Given the description of an element on the screen output the (x, y) to click on. 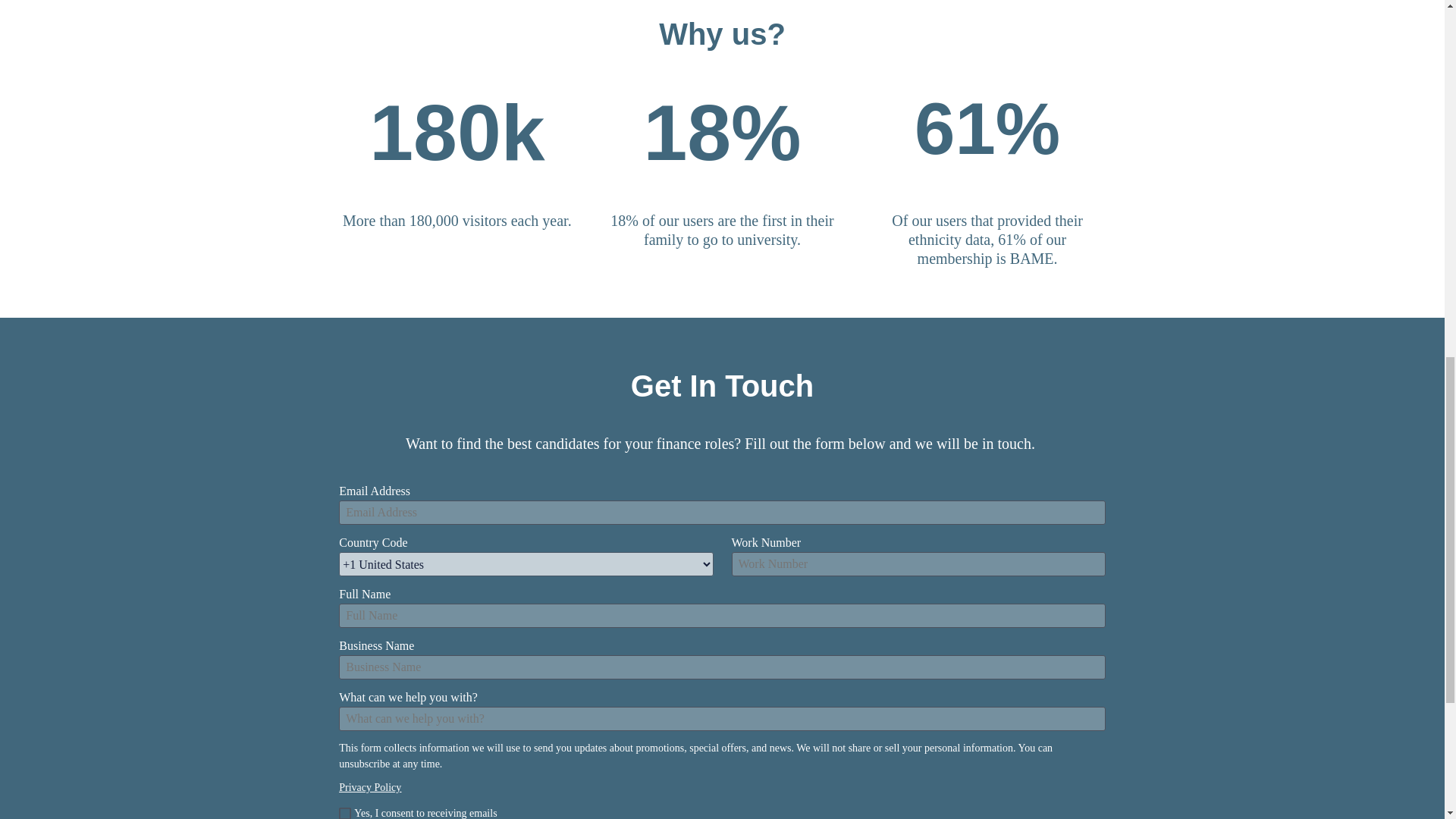
Privacy Policy (370, 787)
